Given the description of an element on the screen output the (x, y) to click on. 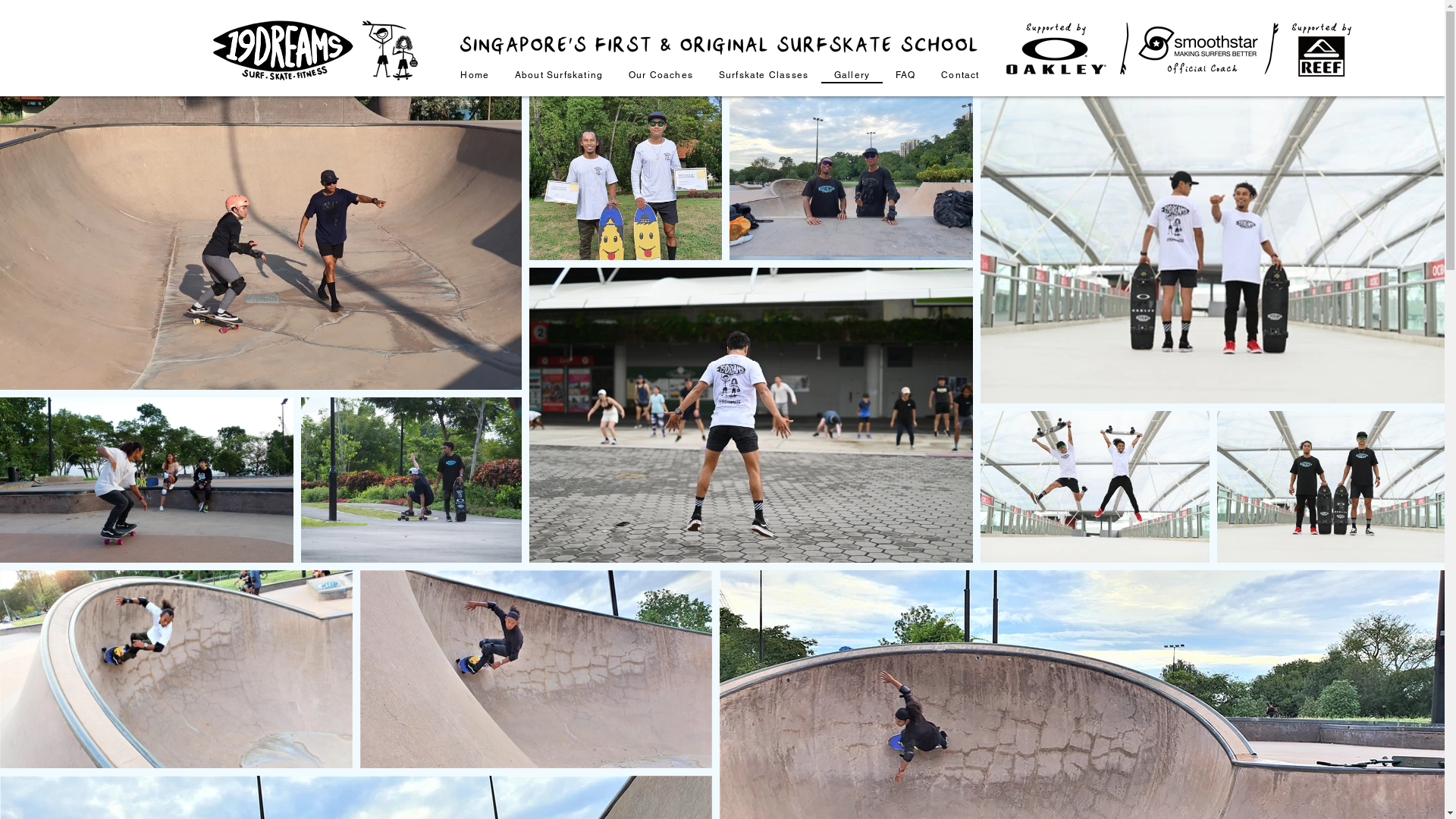
FAQ Element type: text (905, 75)
Surfskate Classes Element type: text (763, 75)
Our Coaches Element type: text (660, 75)
About Surfskating Element type: text (558, 75)
Contact Element type: text (959, 75)
Gallery Element type: text (851, 75)
Home Element type: text (474, 75)
